Given the description of an element on the screen output the (x, y) to click on. 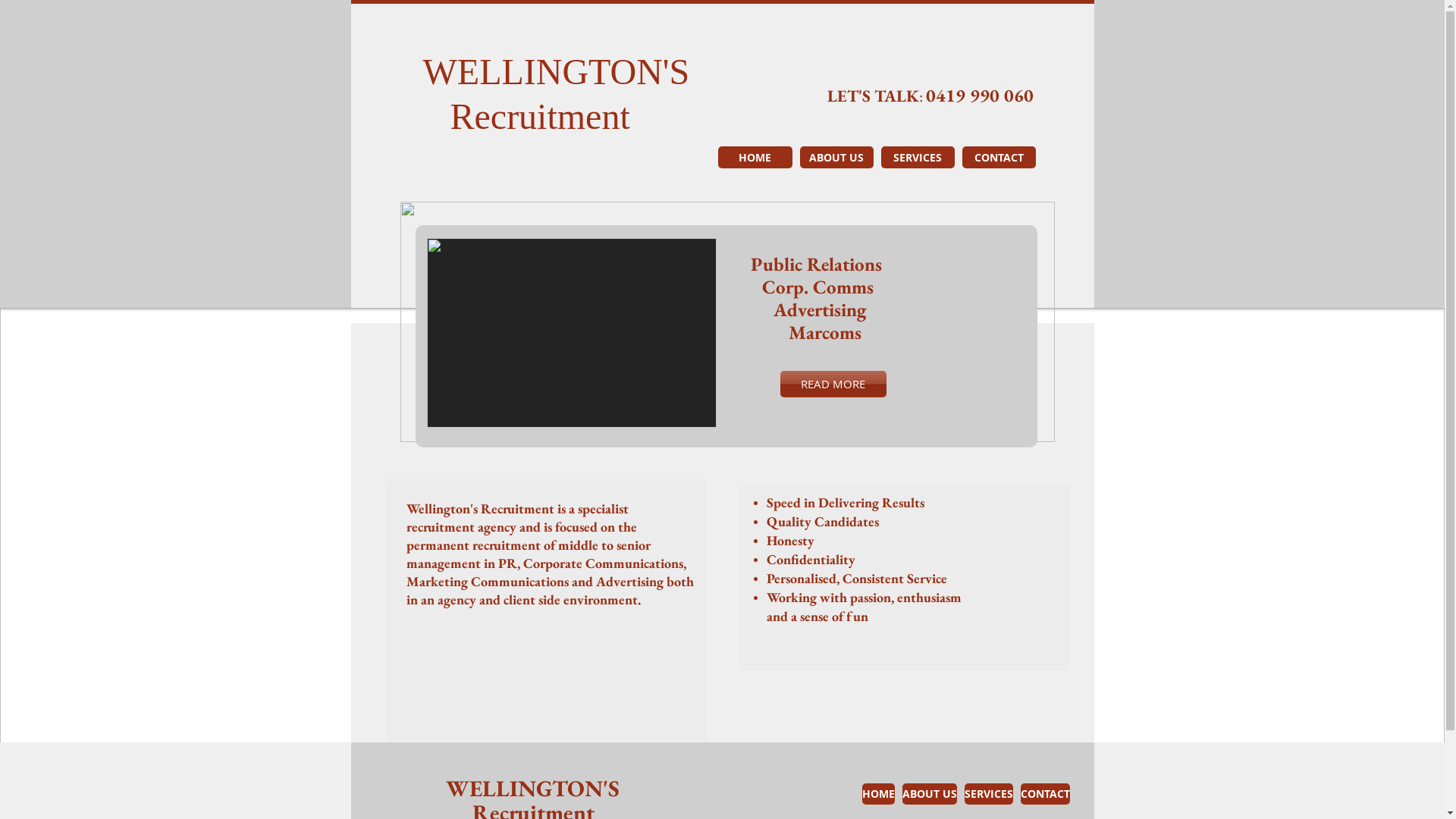
HOME Element type: text (754, 157)
SERVICES Element type: text (988, 793)
READ MORE Element type: text (832, 383)
ABOUT US Element type: text (929, 793)
CONTACT Element type: text (998, 157)
HOME Element type: text (877, 793)
CONTACT Element type: text (1045, 793)
SERVICES Element type: text (917, 157)
ABOUT US Element type: text (835, 157)
